Given the description of an element on the screen output the (x, y) to click on. 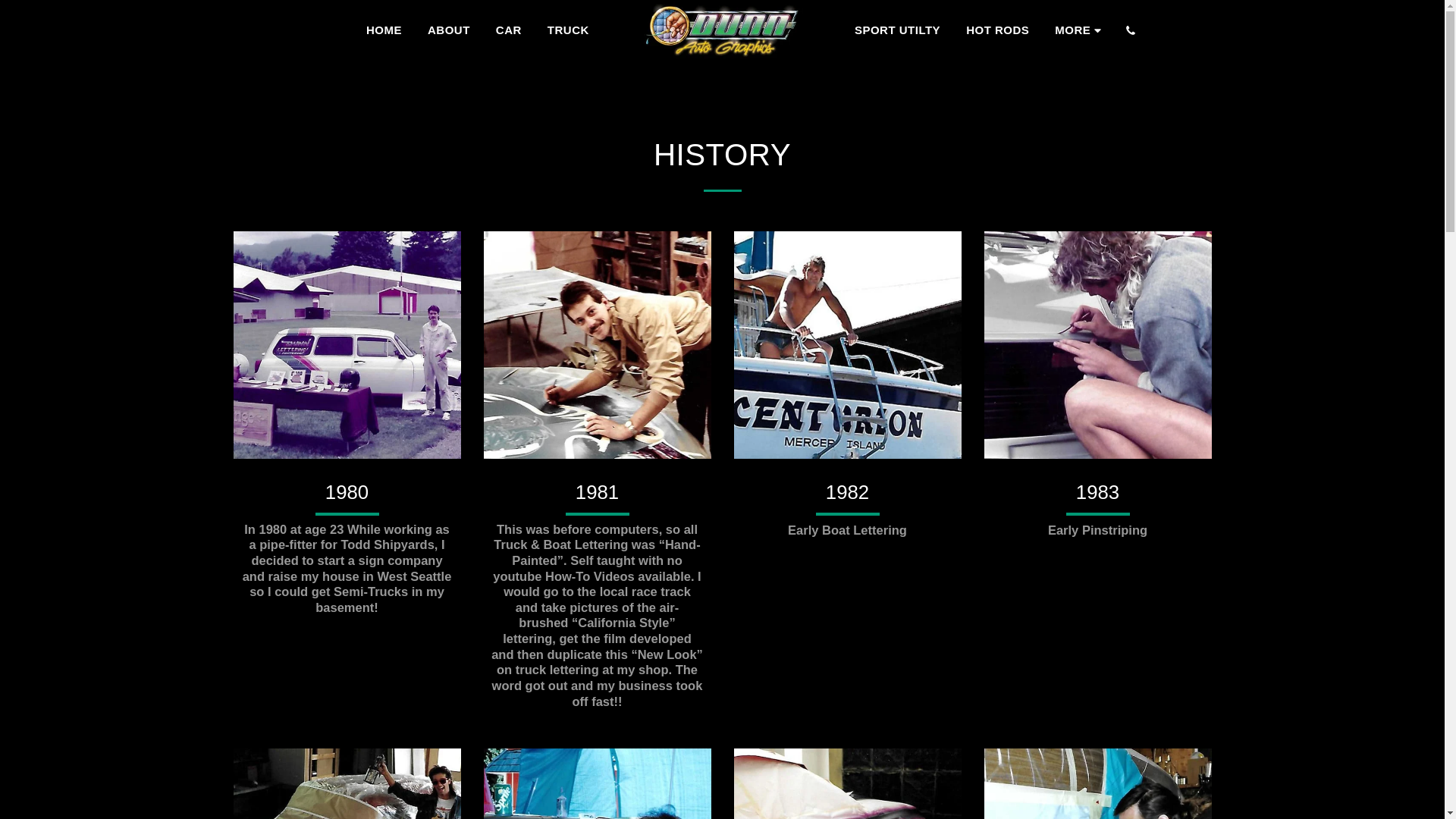
ABOUT (447, 30)
MORE   (1080, 29)
CAR (508, 30)
SPORT UTILTY (897, 30)
HOT RODS (997, 30)
TRUCK (568, 30)
HOME (383, 30)
